Given the description of an element on the screen output the (x, y) to click on. 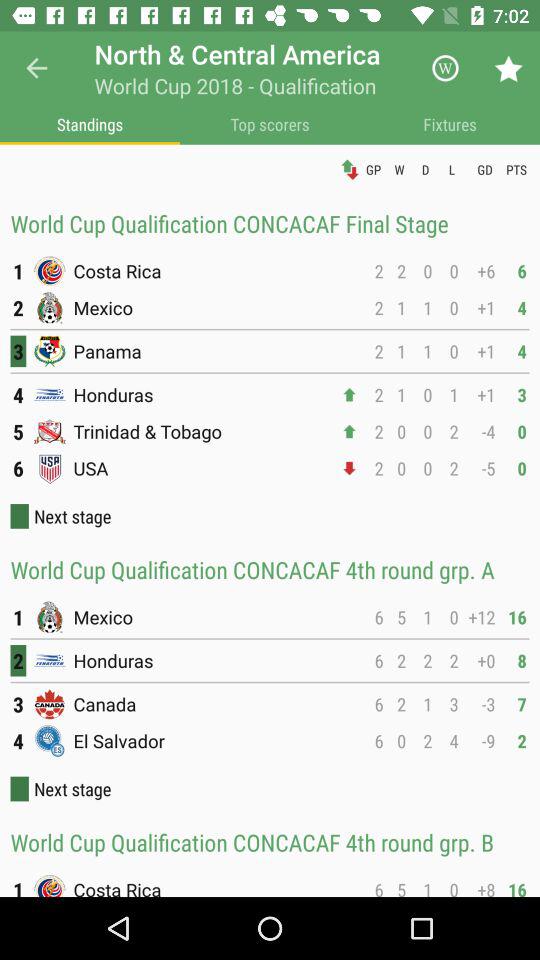
choose app next to the top scorers icon (90, 124)
